Given the description of an element on the screen output the (x, y) to click on. 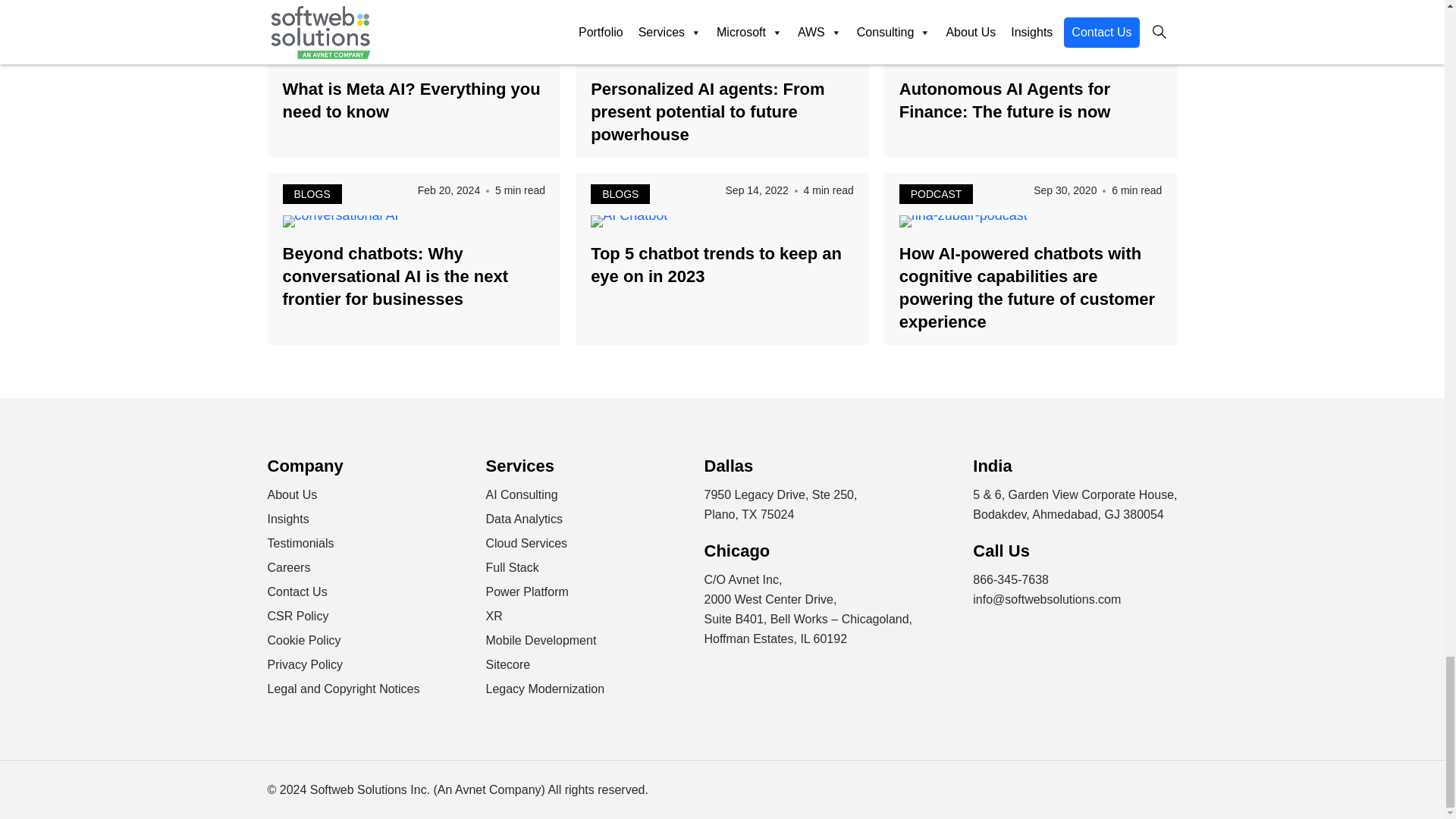
AI Consulting (520, 494)
Testimonials (299, 543)
Full Stack (511, 567)
CSR Policy (297, 615)
Insights (287, 518)
Cookie Policy (303, 640)
About Us (291, 494)
Careers (288, 567)
Legal and Copyright Notices (342, 688)
Data Analytics (523, 518)
